Given the description of an element on the screen output the (x, y) to click on. 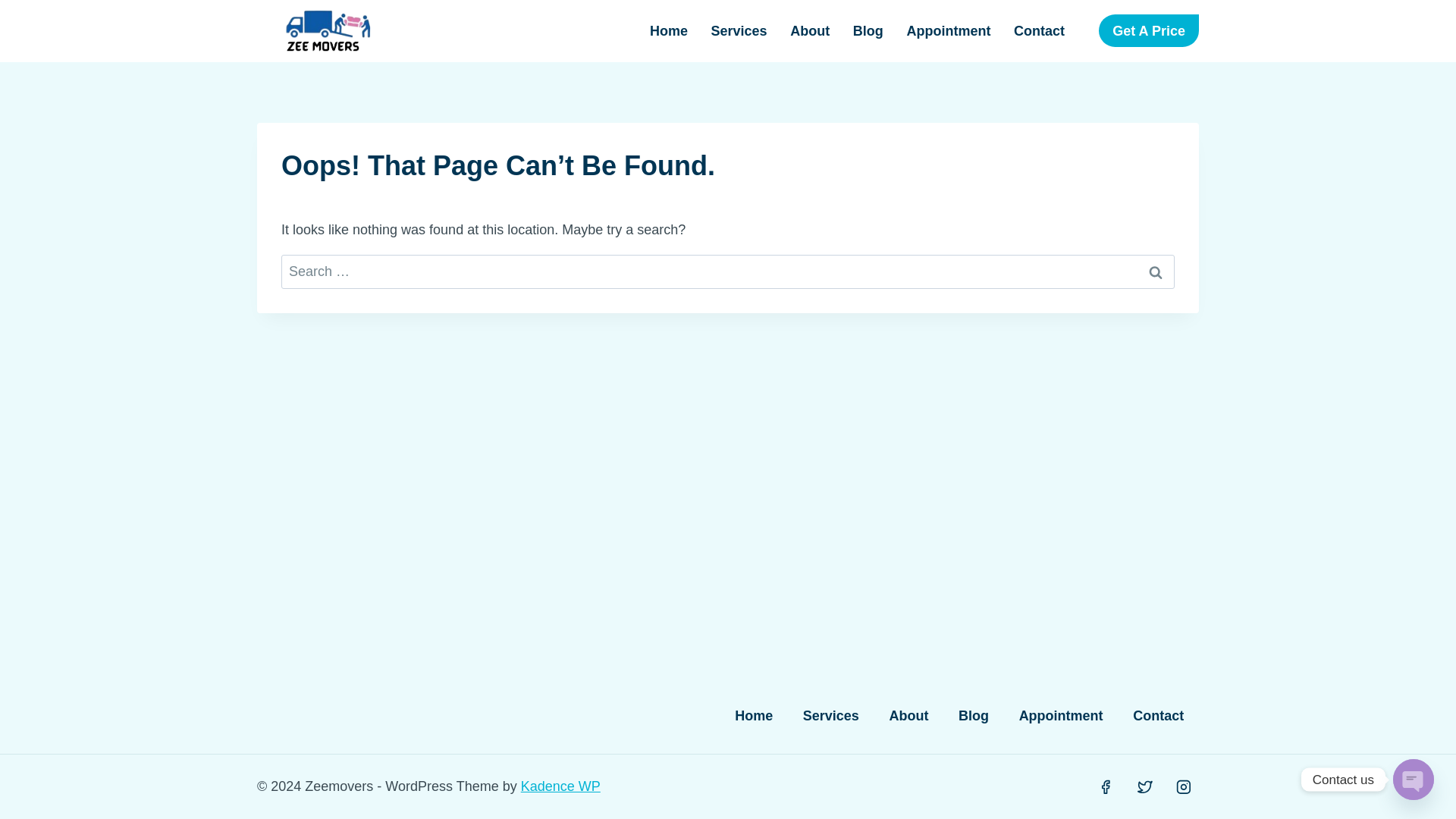
Search (1155, 271)
Services (831, 716)
Blog (868, 30)
Home (753, 716)
Get A Price (1148, 30)
Contact (1040, 30)
Appointment (949, 30)
Appointment (1061, 716)
Services (738, 30)
Contact (1158, 716)
About (809, 30)
Search (1155, 271)
Kadence WP (560, 785)
Home (669, 30)
Blog (973, 716)
